Given the description of an element on the screen output the (x, y) to click on. 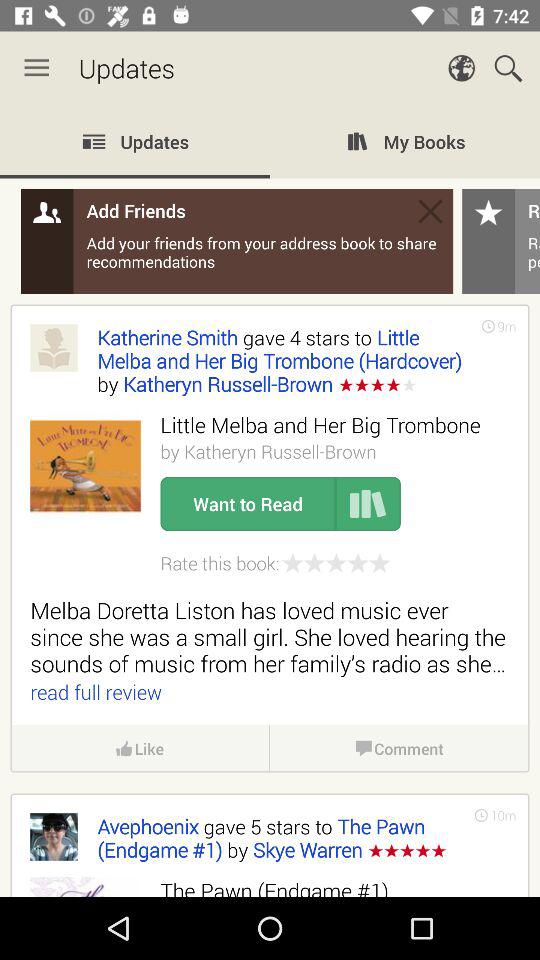
choose the want to read item (247, 503)
